Given the description of an element on the screen output the (x, y) to click on. 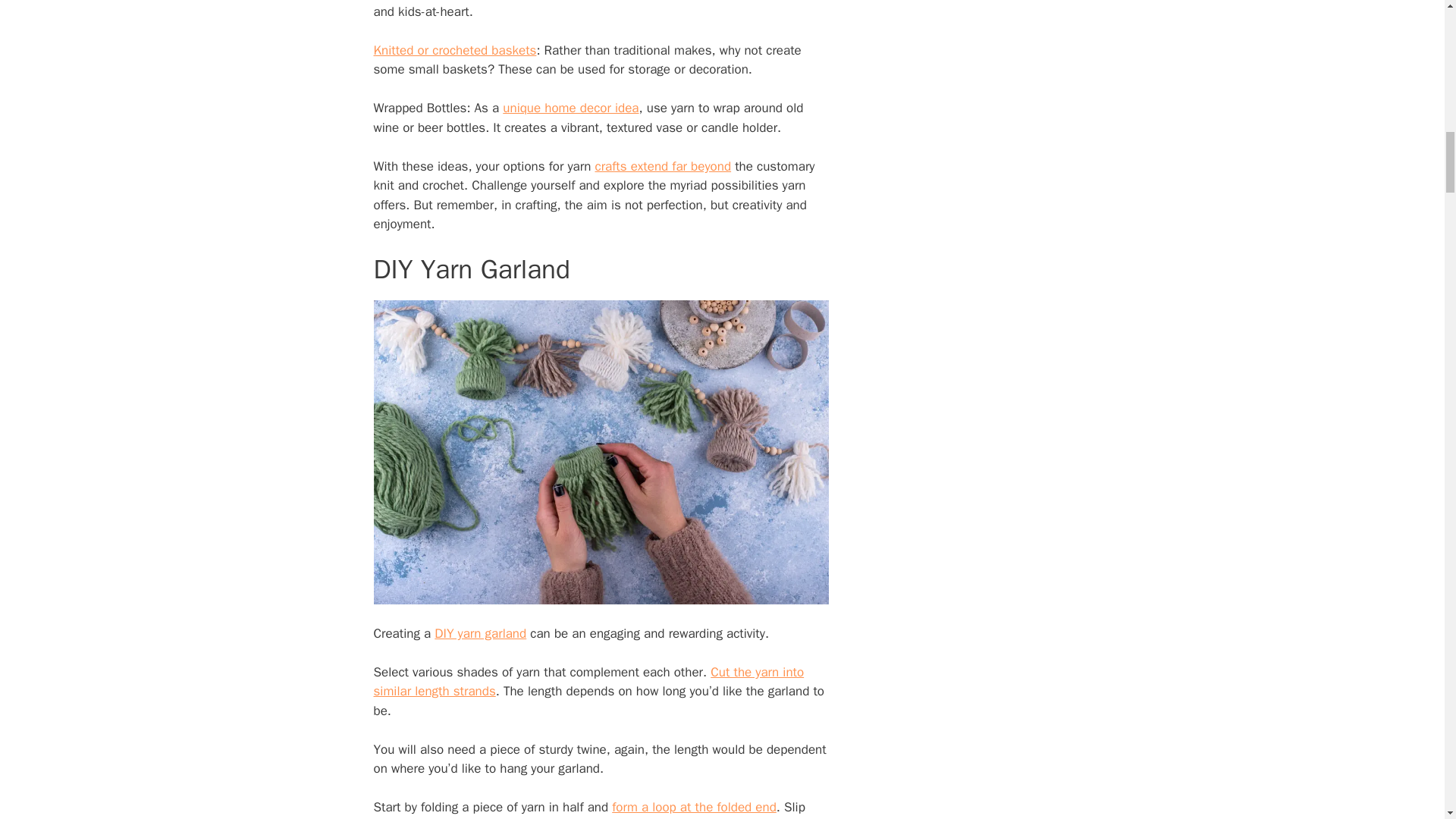
DIY yarn garland (479, 633)
Cut the yarn into similar length strands (587, 682)
Knitted or crocheted baskets (453, 50)
unique home decor idea (570, 107)
crafts extend far beyond (662, 166)
form a loop at the folded end (693, 806)
